Given the description of an element on the screen output the (x, y) to click on. 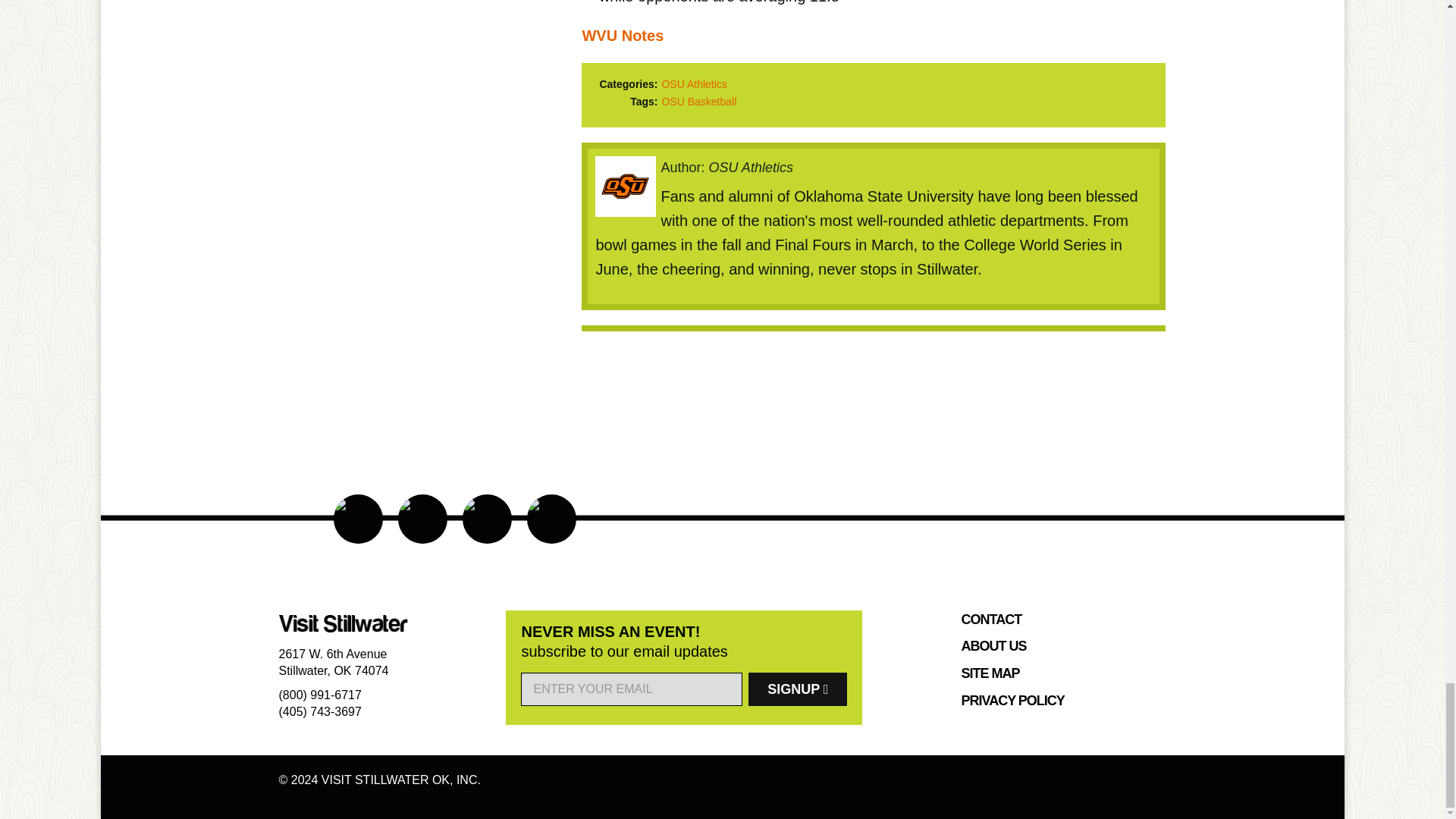
Privacy Policy (1012, 701)
About Us (993, 647)
Contact (991, 620)
Site Map (989, 674)
